Given the description of an element on the screen output the (x, y) to click on. 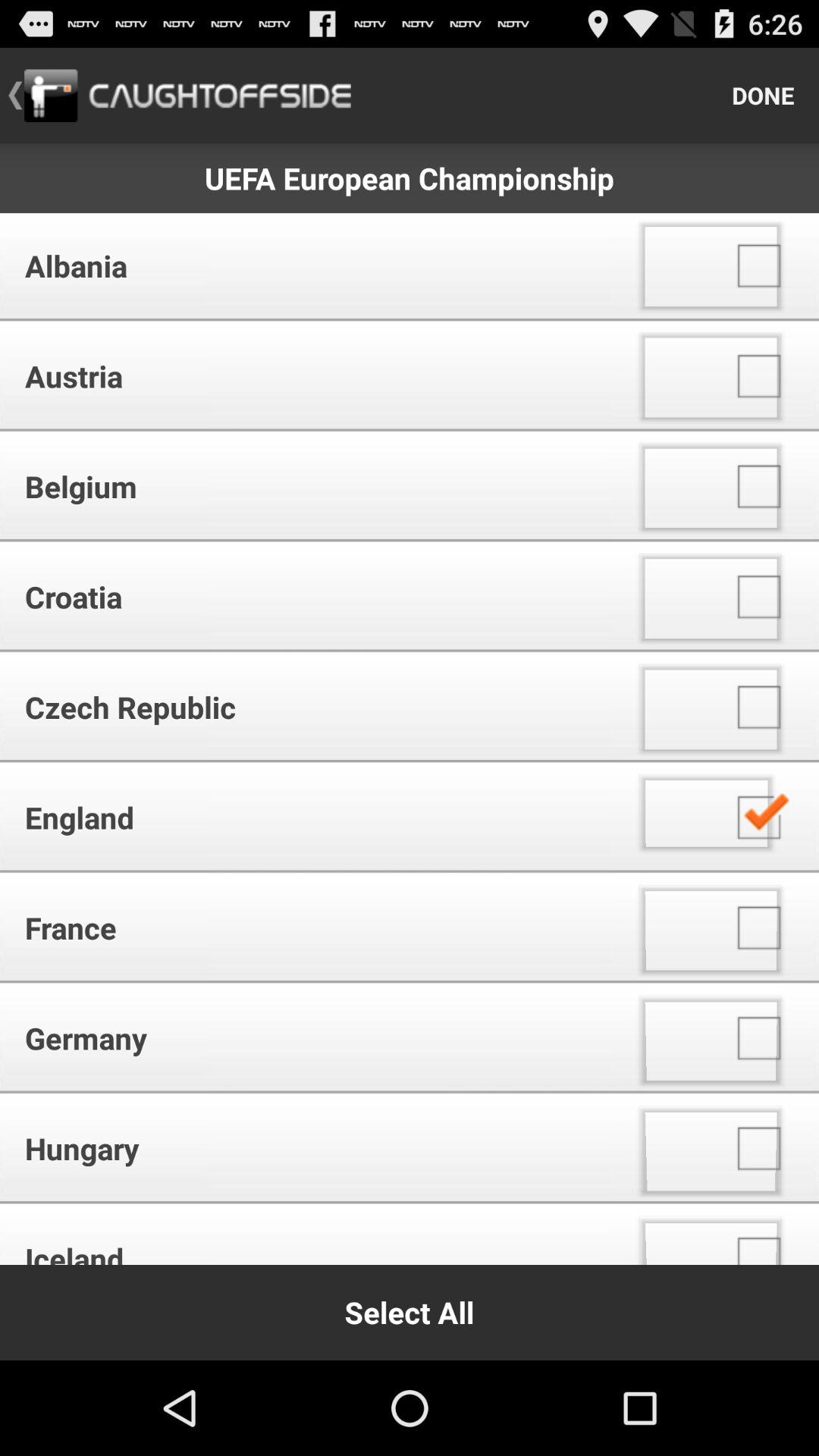
flip until the croatia item (311, 596)
